Given the description of an element on the screen output the (x, y) to click on. 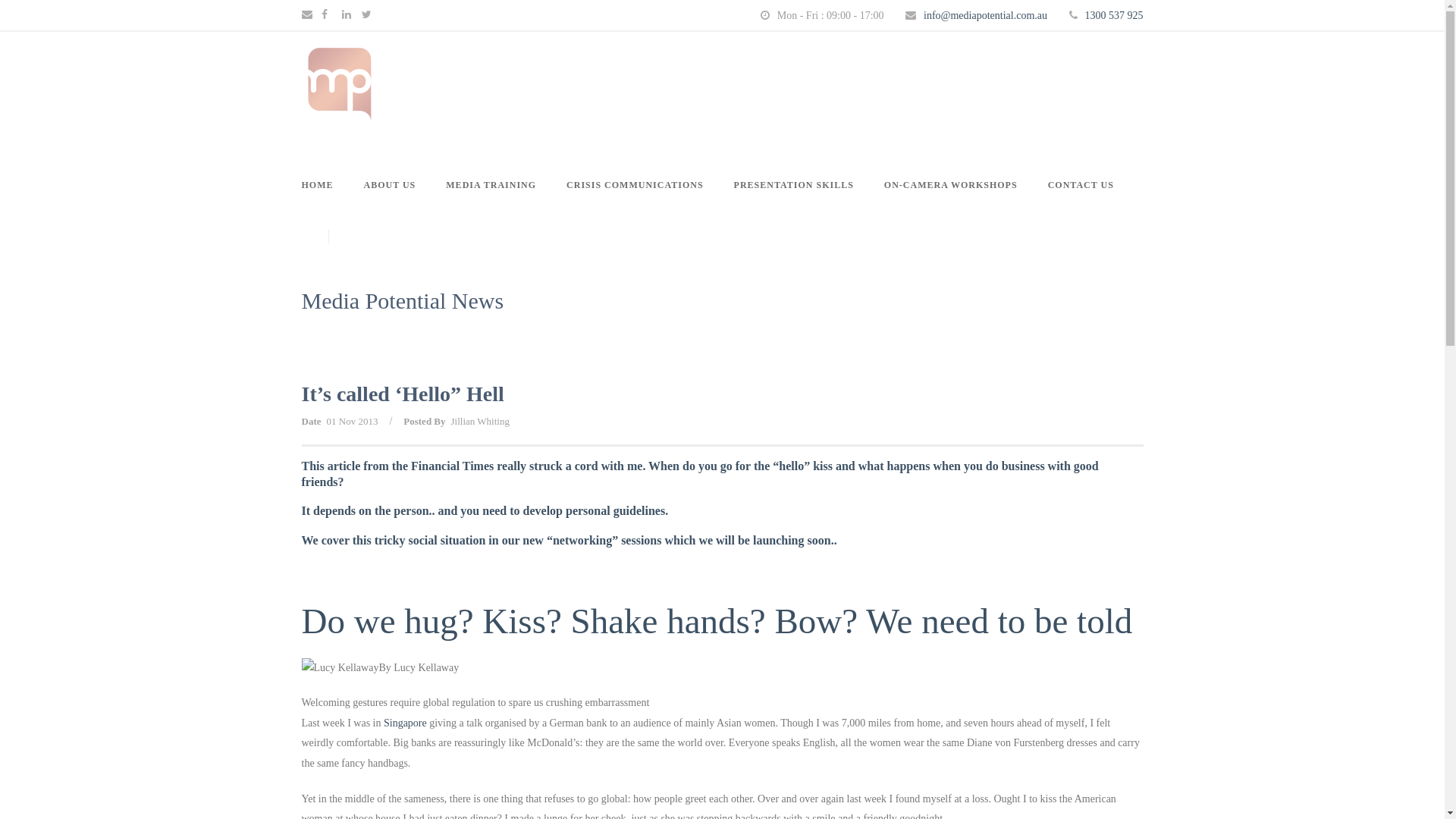
1300 537 925 Element type: text (1113, 15)
01 Nov 2013 Element type: text (351, 420)
MEDIA TRAINING Element type: text (490, 202)
ON-CAMERA WORKSHOPS Element type: text (950, 202)
info@mediapotential.com.au Element type: text (985, 15)
ABOUT US Element type: text (389, 202)
CONTACT US Element type: text (1072, 202)
PRESENTATION SKILLS Element type: text (793, 202)
HOME Element type: text (324, 202)
CRISIS COMMUNICATIONS Element type: text (634, 202)
Jillian Whiting Element type: text (480, 420)
Singapore  Element type: text (406, 722)
